Given the description of an element on the screen output the (x, y) to click on. 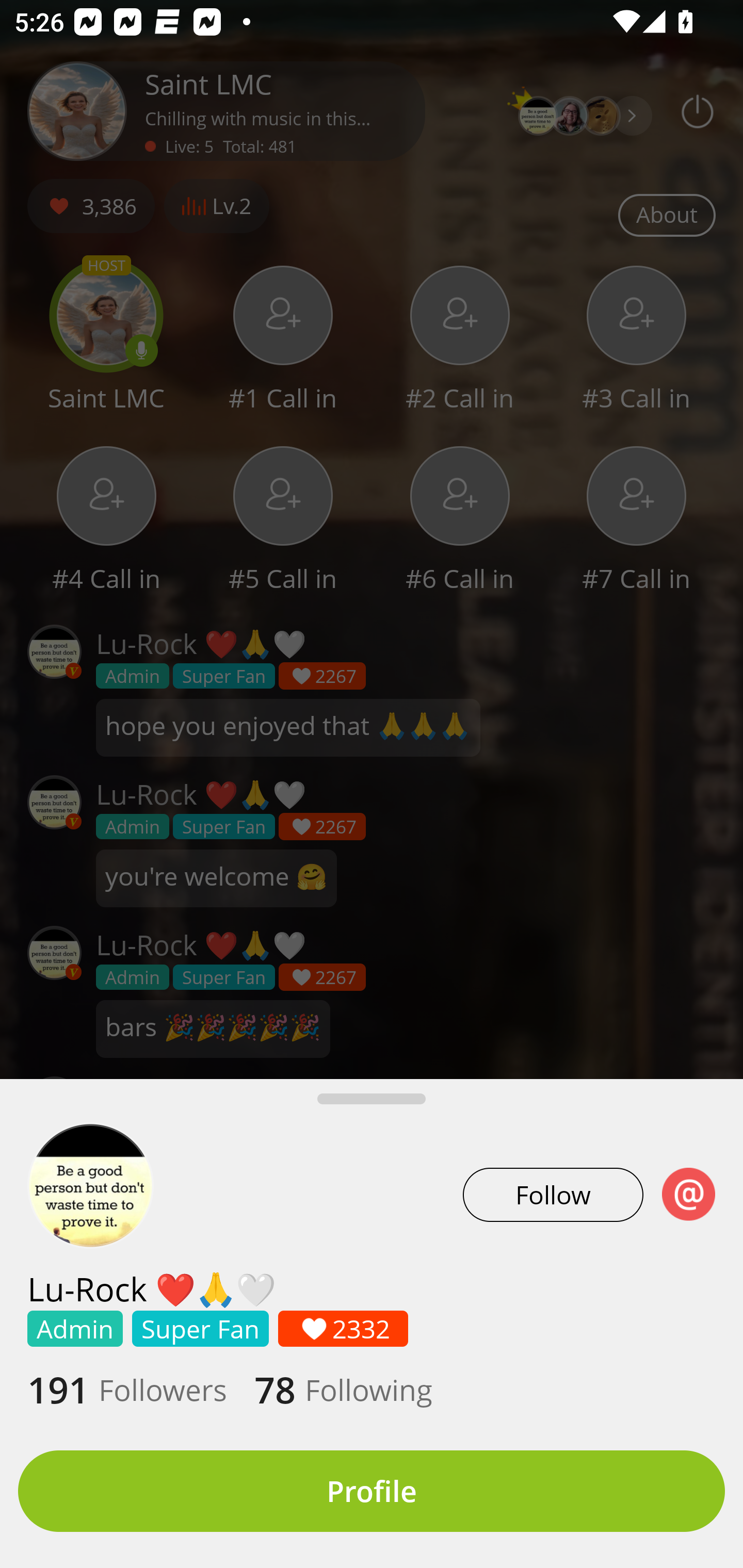
Follow (552, 1194)
Profile (371, 1490)
